Given the description of an element on the screen output the (x, y) to click on. 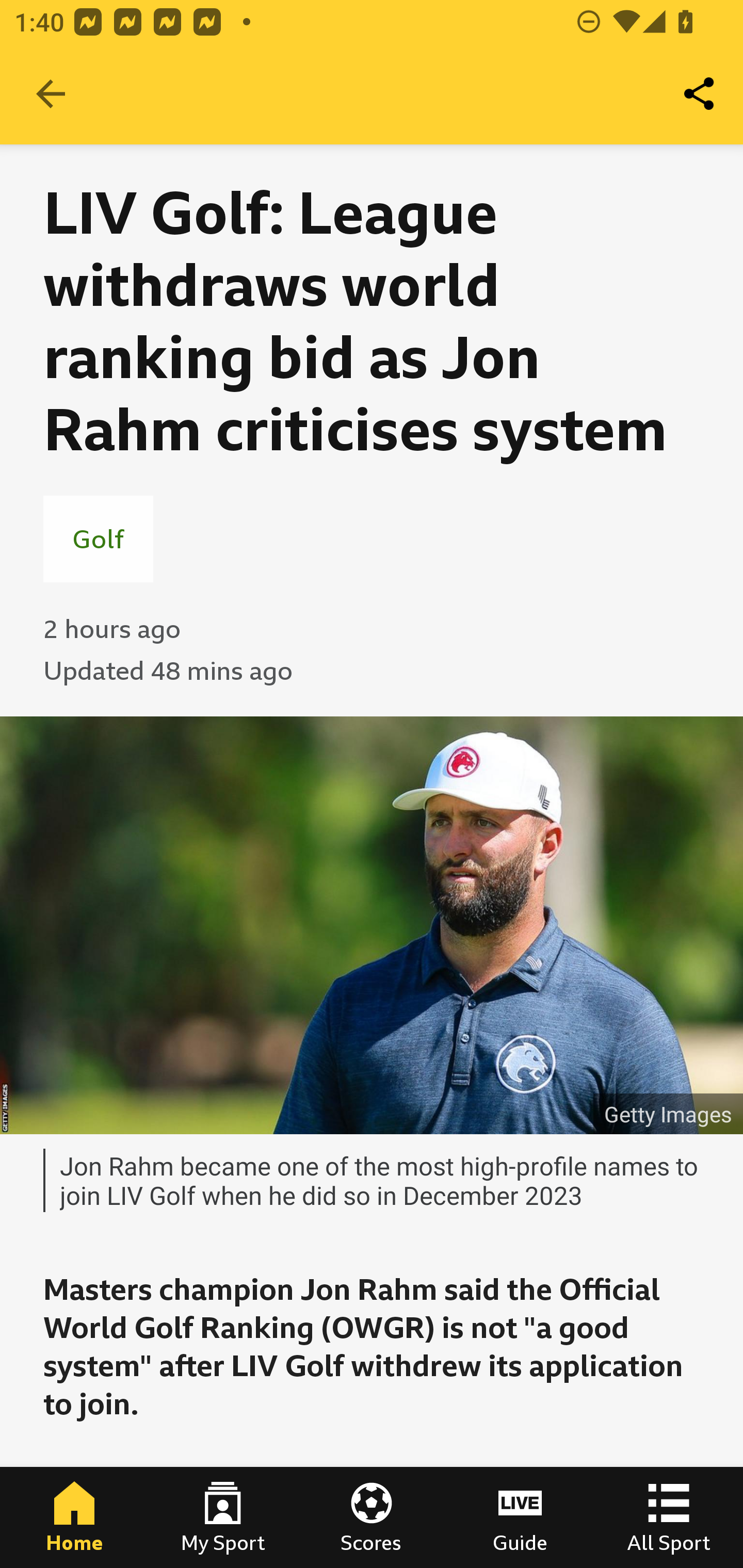
Navigate up (50, 93)
Share (699, 93)
Golf (98, 538)
My Sport (222, 1517)
Scores (371, 1517)
Guide (519, 1517)
All Sport (668, 1517)
